Given the description of an element on the screen output the (x, y) to click on. 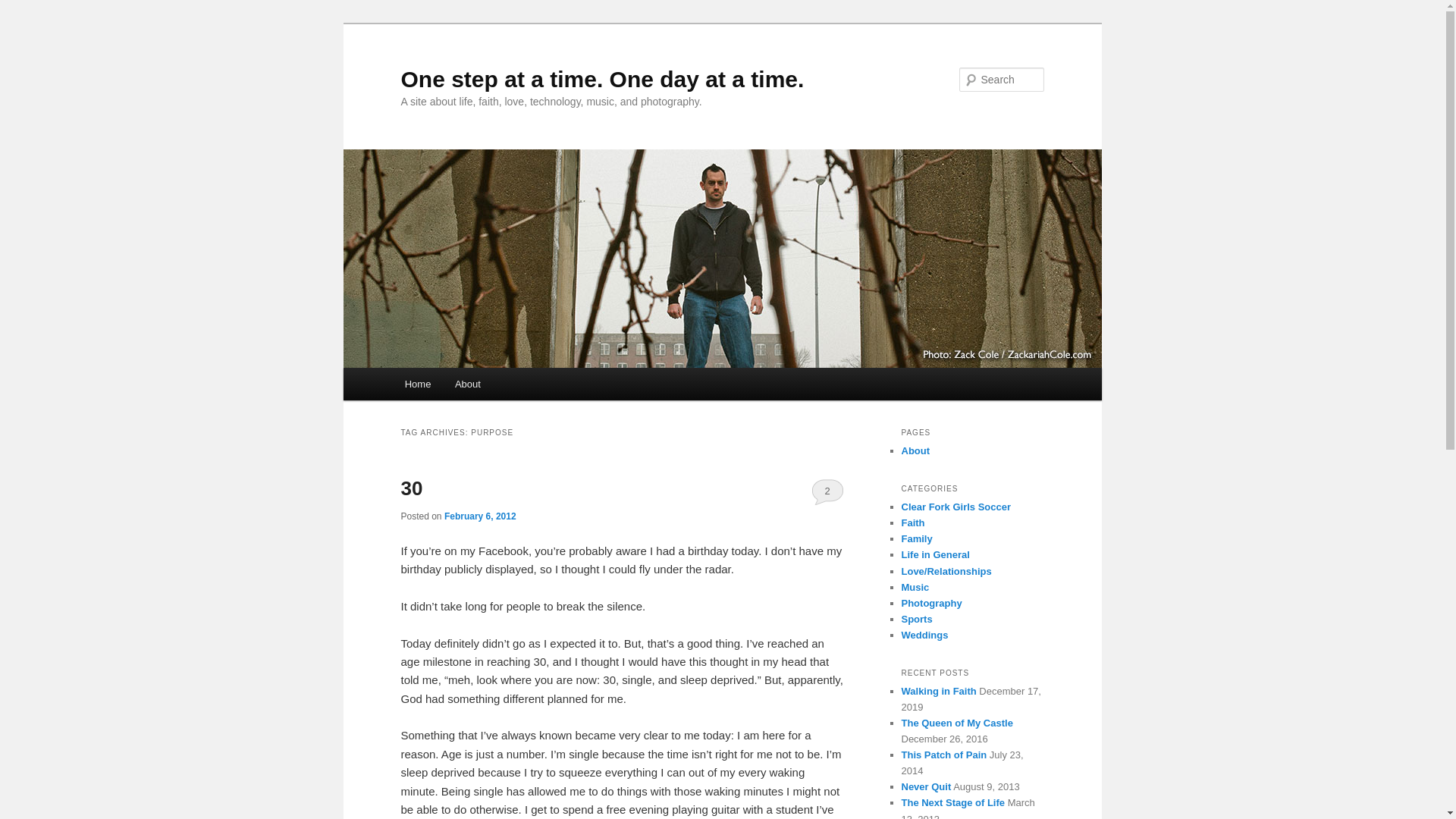
The Next Stage of Life (952, 802)
The Queen of My Castle (956, 722)
Life in General (935, 554)
About (915, 450)
One step at a time. One day at a time. (601, 78)
Weddings (924, 634)
11:55 pm (480, 516)
Music (914, 586)
Walking in Faith (938, 690)
About (467, 383)
